Given the description of an element on the screen output the (x, y) to click on. 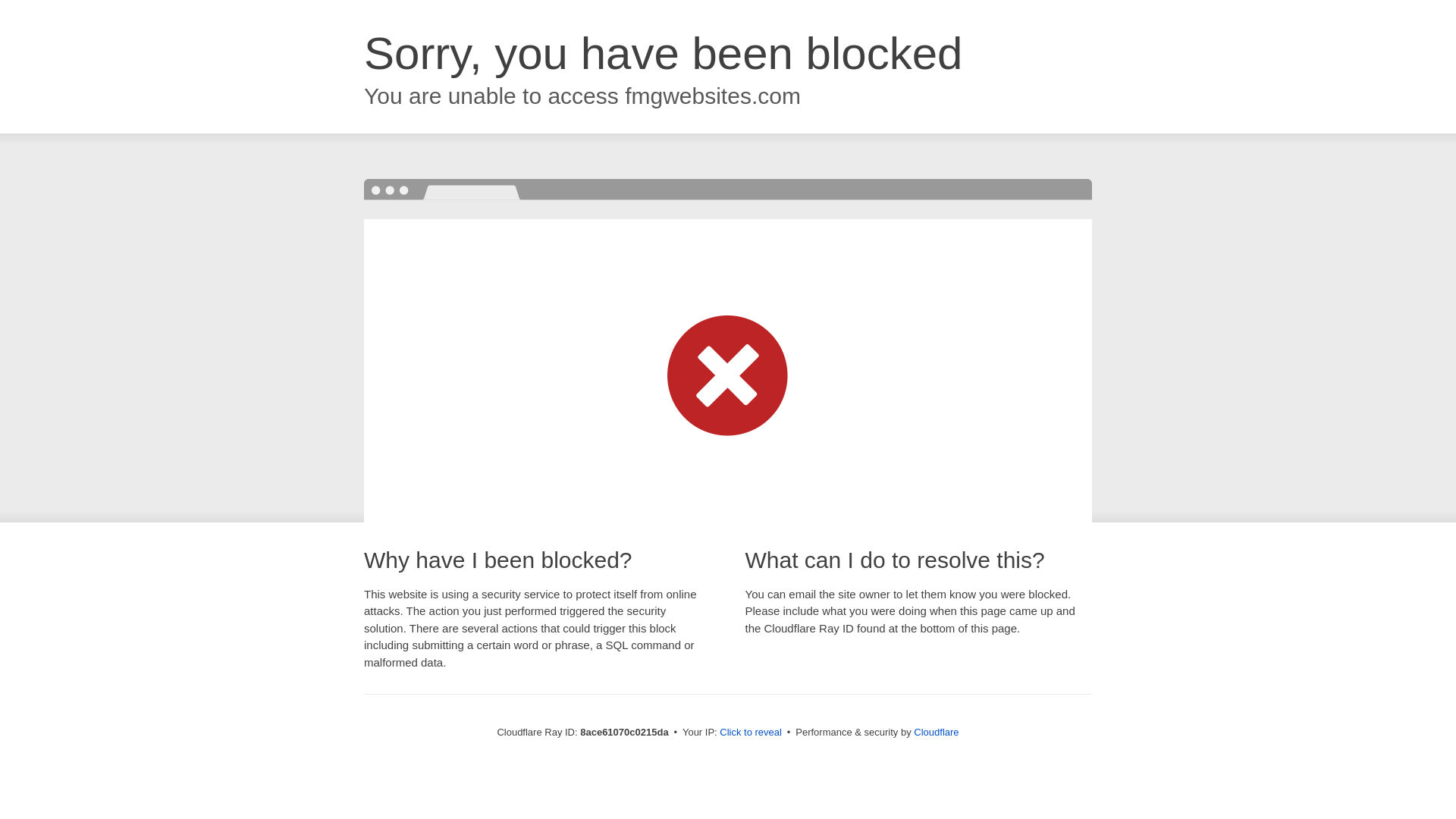
Cloudflare (936, 731)
Click to reveal (750, 732)
